Given the description of an element on the screen output the (x, y) to click on. 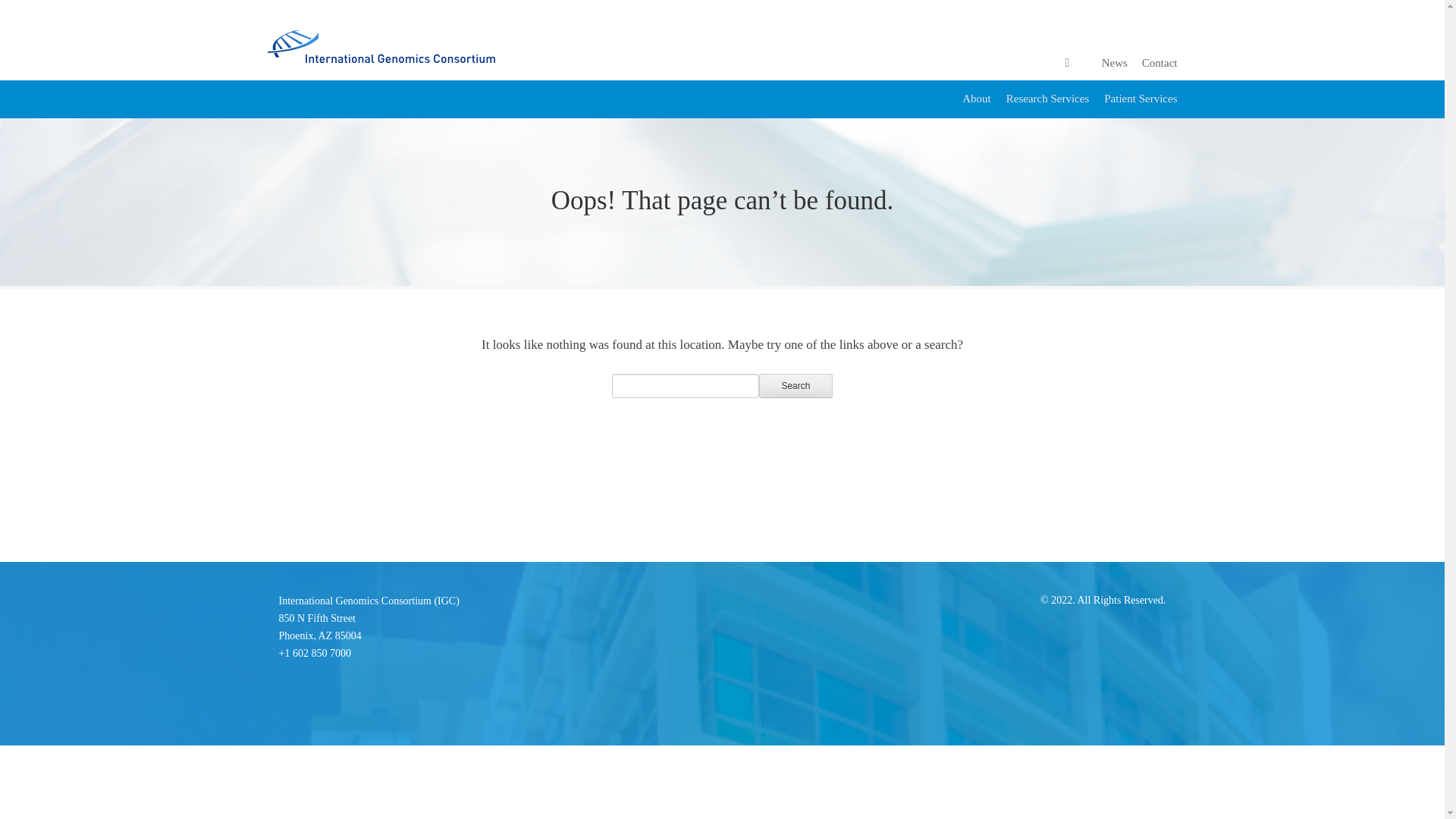
Contact (1159, 62)
Search (795, 385)
Search (795, 385)
News (1114, 62)
Patient Services (320, 626)
Search (1139, 98)
Research Services (795, 385)
